Given the description of an element on the screen output the (x, y) to click on. 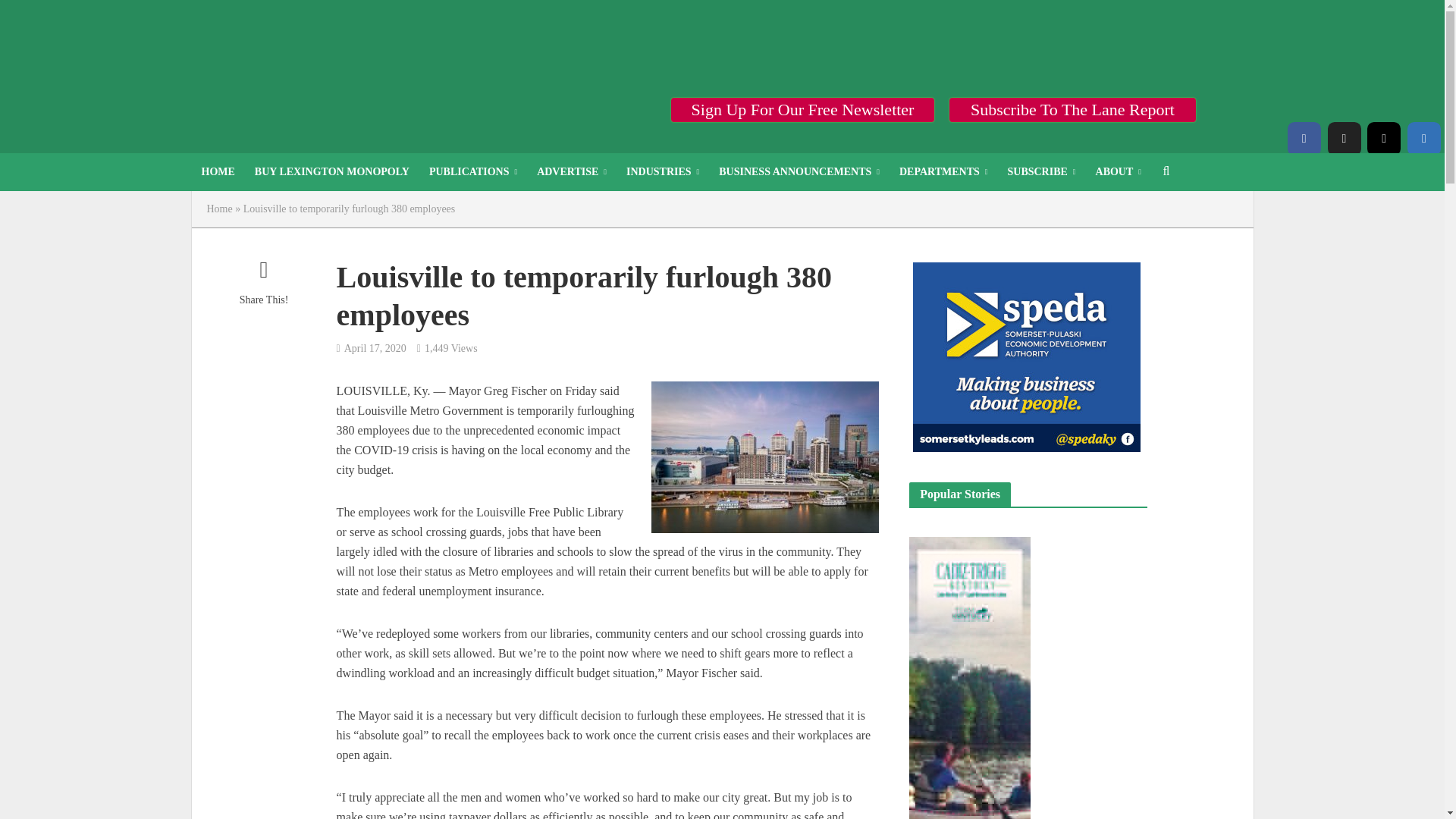
Linkedin (1424, 138)
instagram (1383, 138)
facebook (1303, 138)
HOME (217, 171)
Sign up for the Faster Lane business newsletter! (802, 109)
BUY LEXINGTON MONOPOLY (331, 171)
Subscribe To The Lane Report (1072, 109)
Sign Up For Our Free Newsletter (802, 109)
Instagram (1383, 138)
Subscribe To The Lane Report (1072, 109)
PUBLICATIONS (473, 171)
ADVERTISE (571, 171)
twitter (1342, 138)
INDUSTRIES (662, 171)
linkedin (1424, 138)
